Given the description of an element on the screen output the (x, y) to click on. 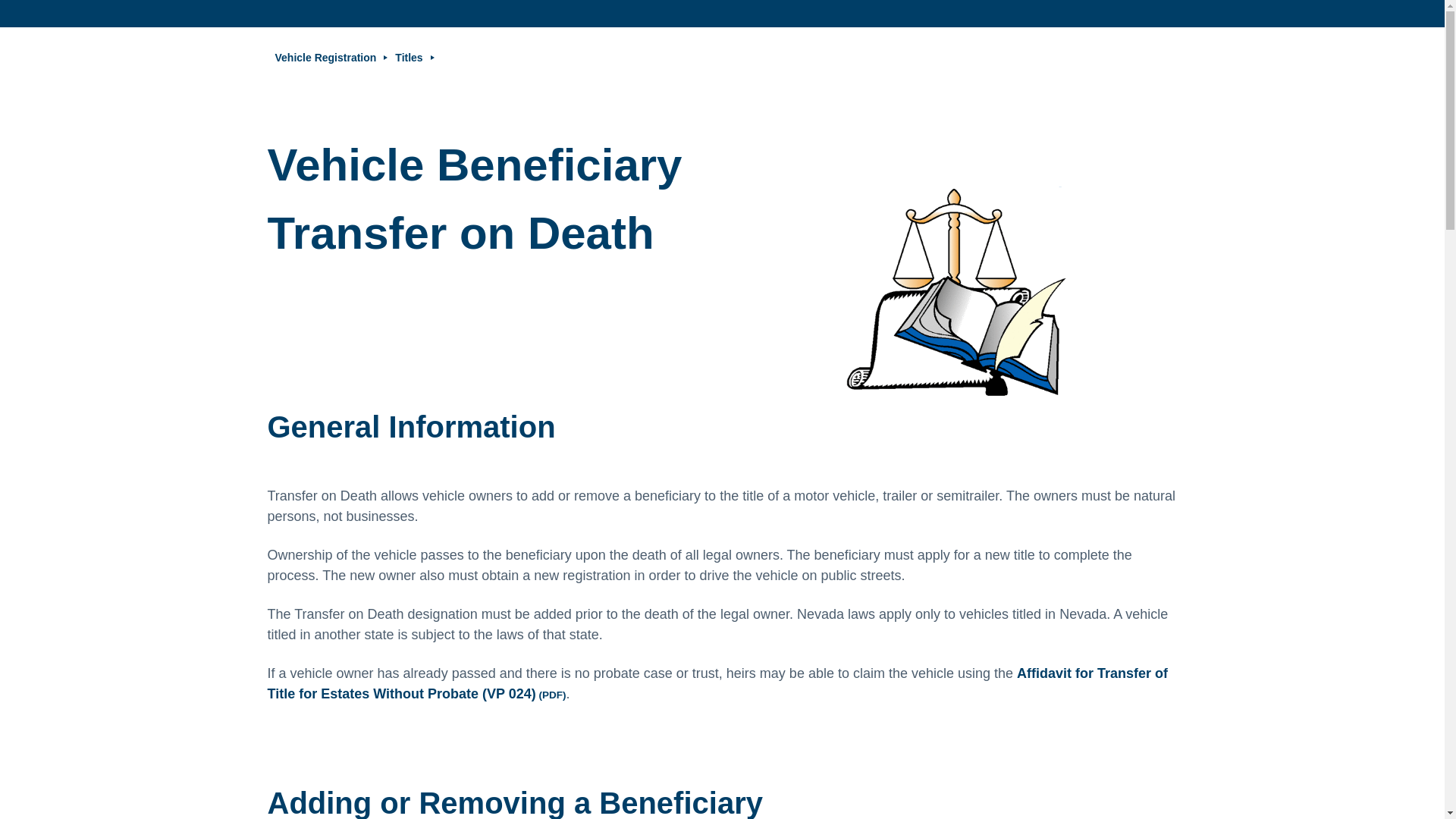
Titles (408, 57)
Vehicle Registration (325, 57)
